Given the description of an element on the screen output the (x, y) to click on. 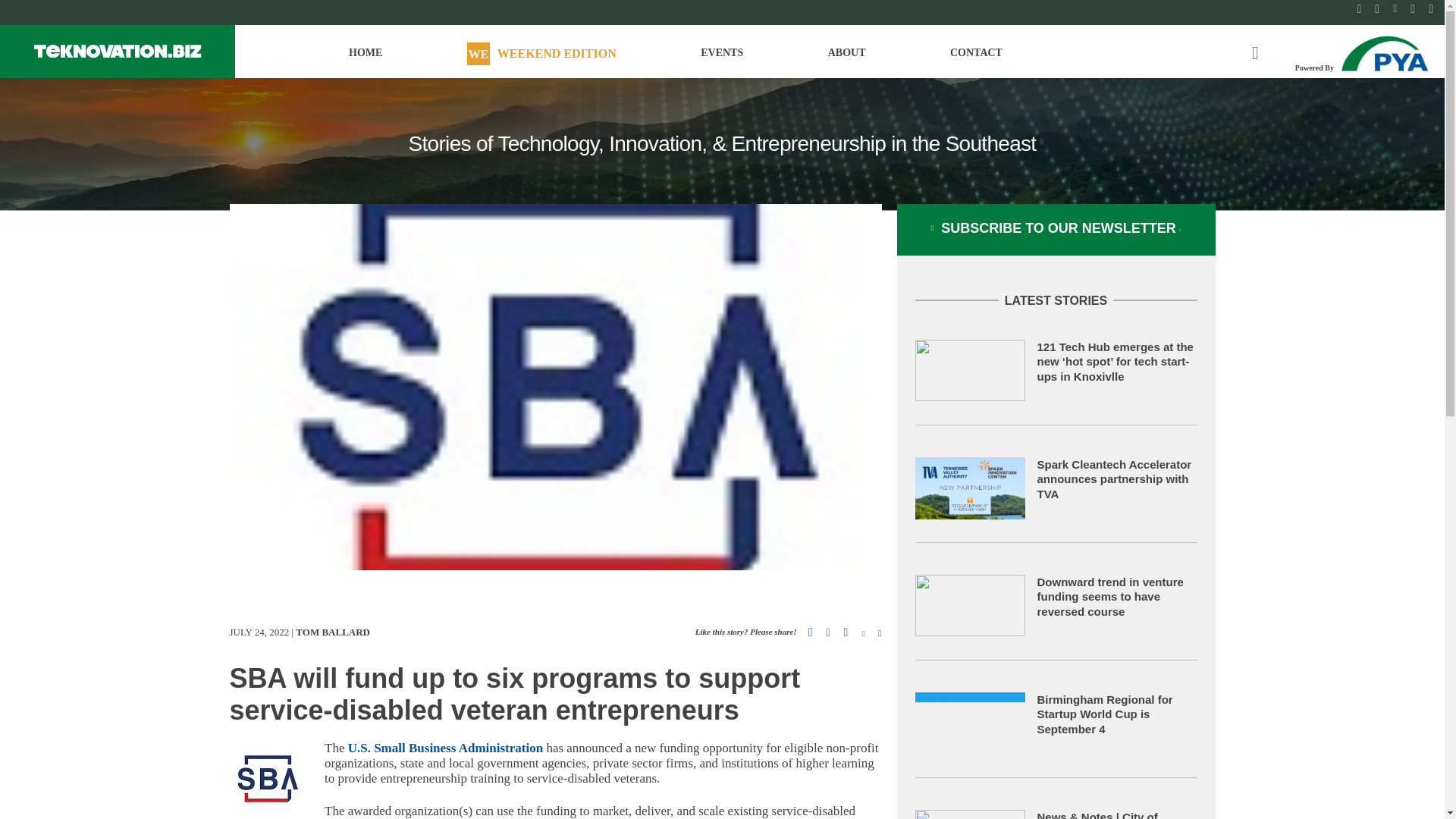
ABOUT (847, 59)
WEEKEND EDITION (541, 59)
Birmingham Regional for Startup World Cup is September 4 (1104, 713)
Powered By (1363, 51)
CONTACT (976, 59)
HOME (365, 59)
TOM BALLARD (332, 632)
U.S. Small Business Administration (445, 748)
Spark Cleantech Accelerator announces partnership with TVA (1114, 478)
